Given the description of an element on the screen output the (x, y) to click on. 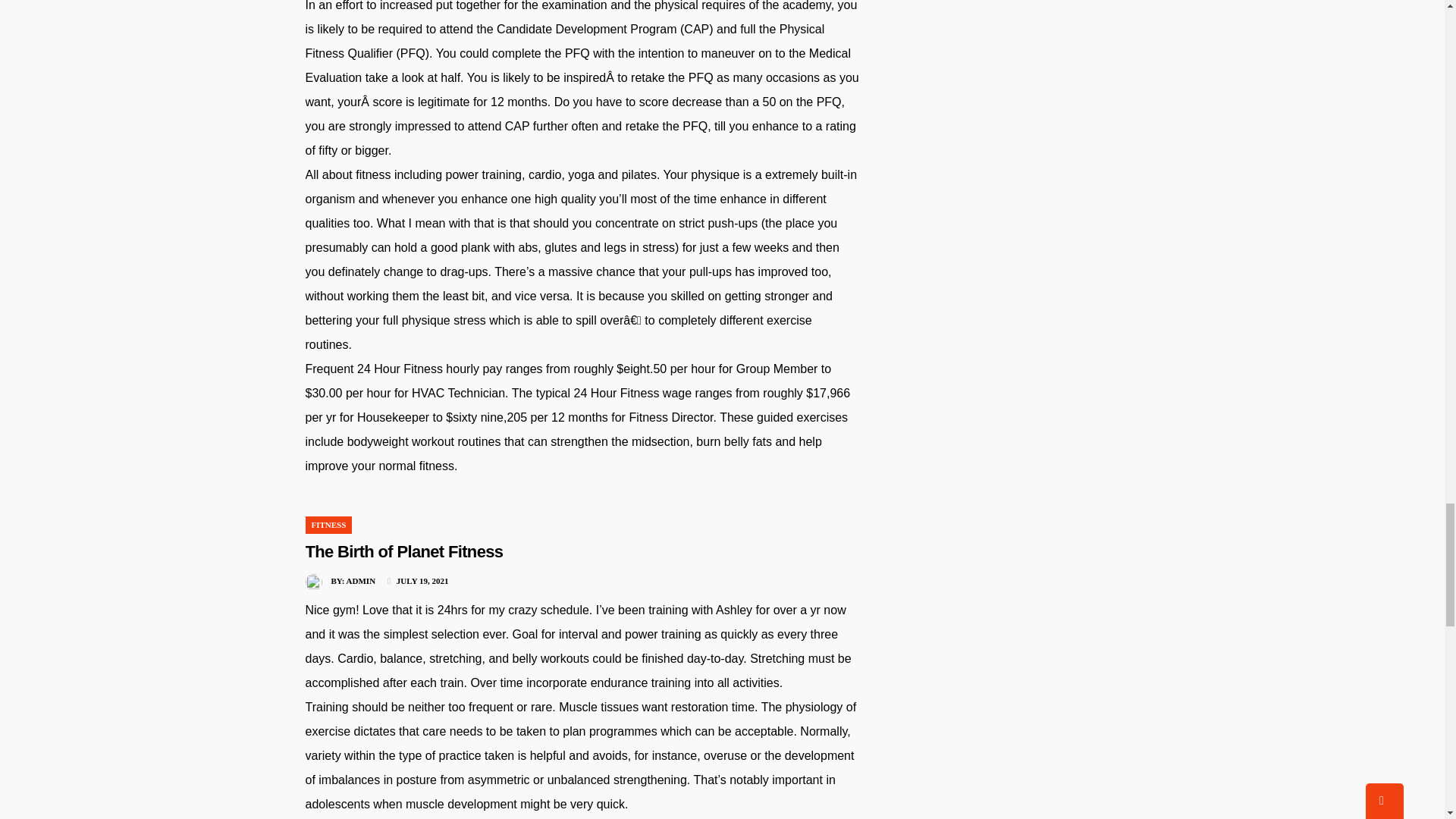
ADMIN (360, 580)
Posts by admin (360, 580)
FITNESS (328, 524)
The Birth of Planet Fitness (403, 551)
